Given the description of an element on the screen output the (x, y) to click on. 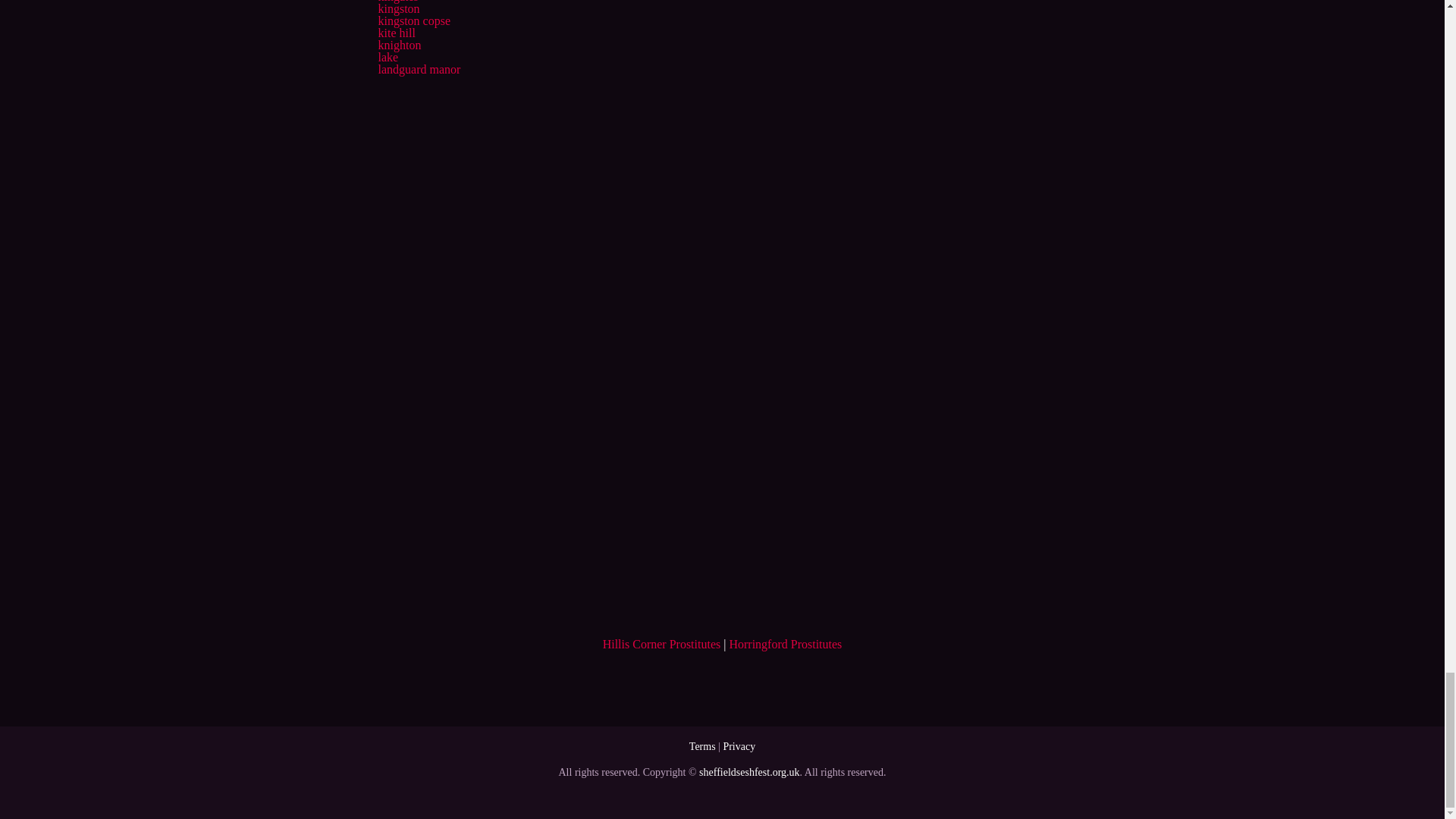
Horringford Prostitutes (785, 644)
Privacy (738, 746)
Terms (702, 746)
knighton (398, 44)
Hillis Corner Prostitutes (661, 644)
kite hill (395, 32)
landguard manor (418, 69)
kingston (398, 8)
kingates (397, 1)
Privacy (738, 746)
